Given the description of an element on the screen output the (x, y) to click on. 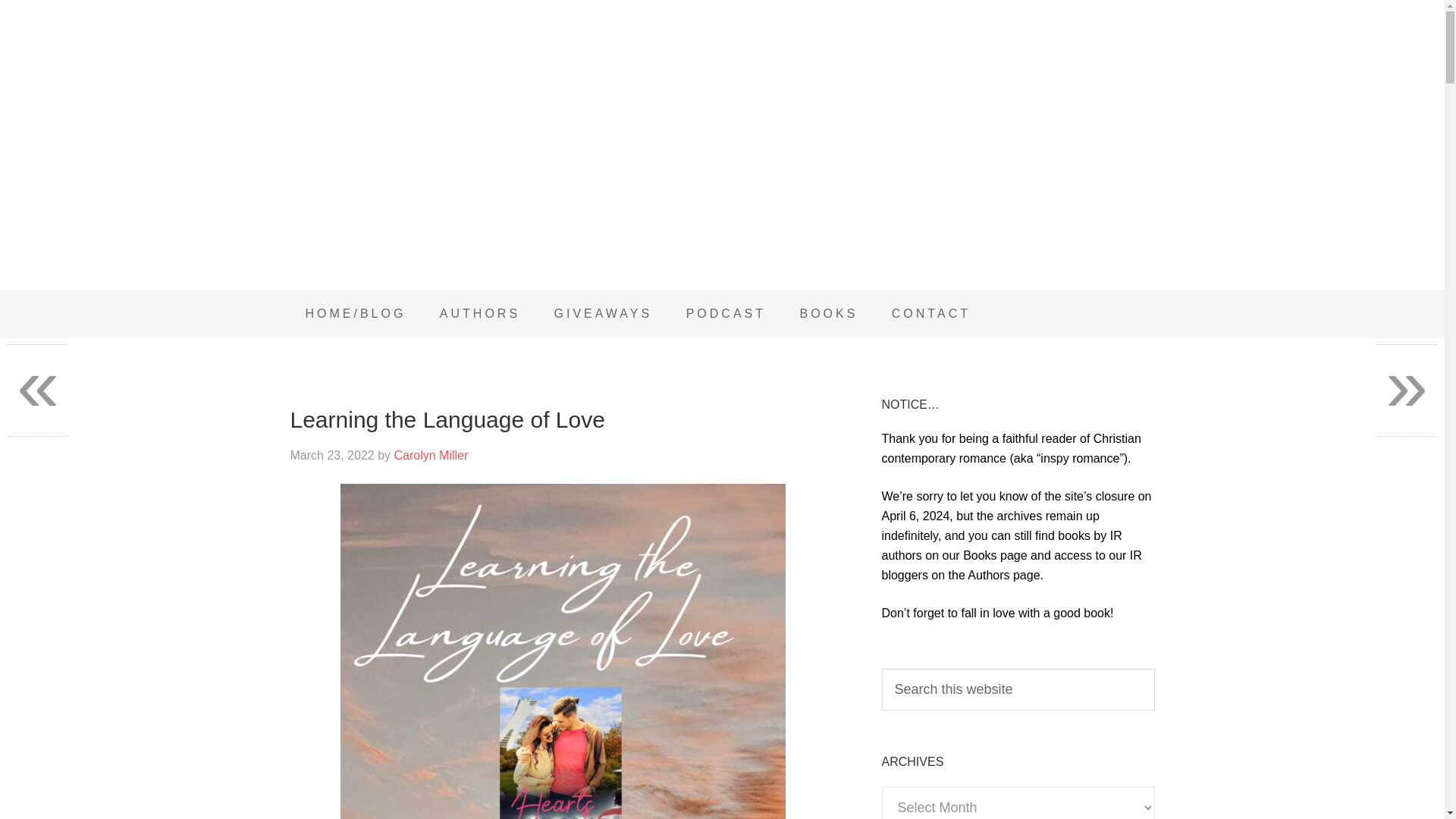
Carolyn Miller (430, 454)
GIVEAWAYS (603, 313)
BOOKS (828, 313)
CONTACT (930, 313)
PODCAST (725, 313)
AUTHORS (480, 313)
